Given the description of an element on the screen output the (x, y) to click on. 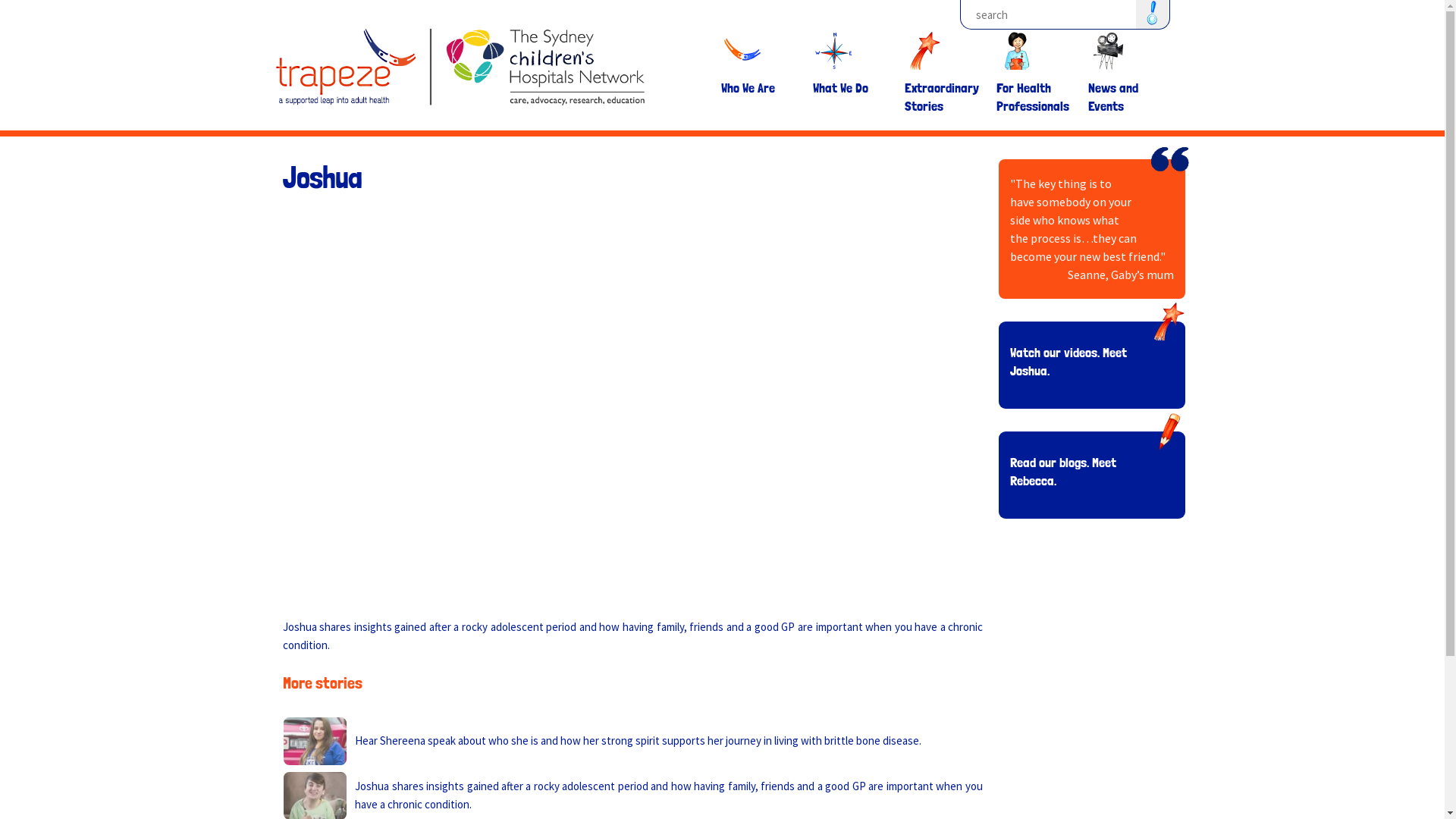
Read our blogs. Meet Rebecca. Element type: text (1063, 471)
Home Element type: hover (459, 57)
News and Events Element type: text (1124, 116)
Watch our videos. Meet Joshua. Element type: text (1068, 361)
Who We Are Element type: text (757, 116)
Jump to navigation Element type: text (722, 2)
For Health Professionals Element type: text (1033, 116)
Extraordinary Stories Element type: text (940, 116)
What We Do Element type: text (849, 116)
